Given the description of an element on the screen output the (x, y) to click on. 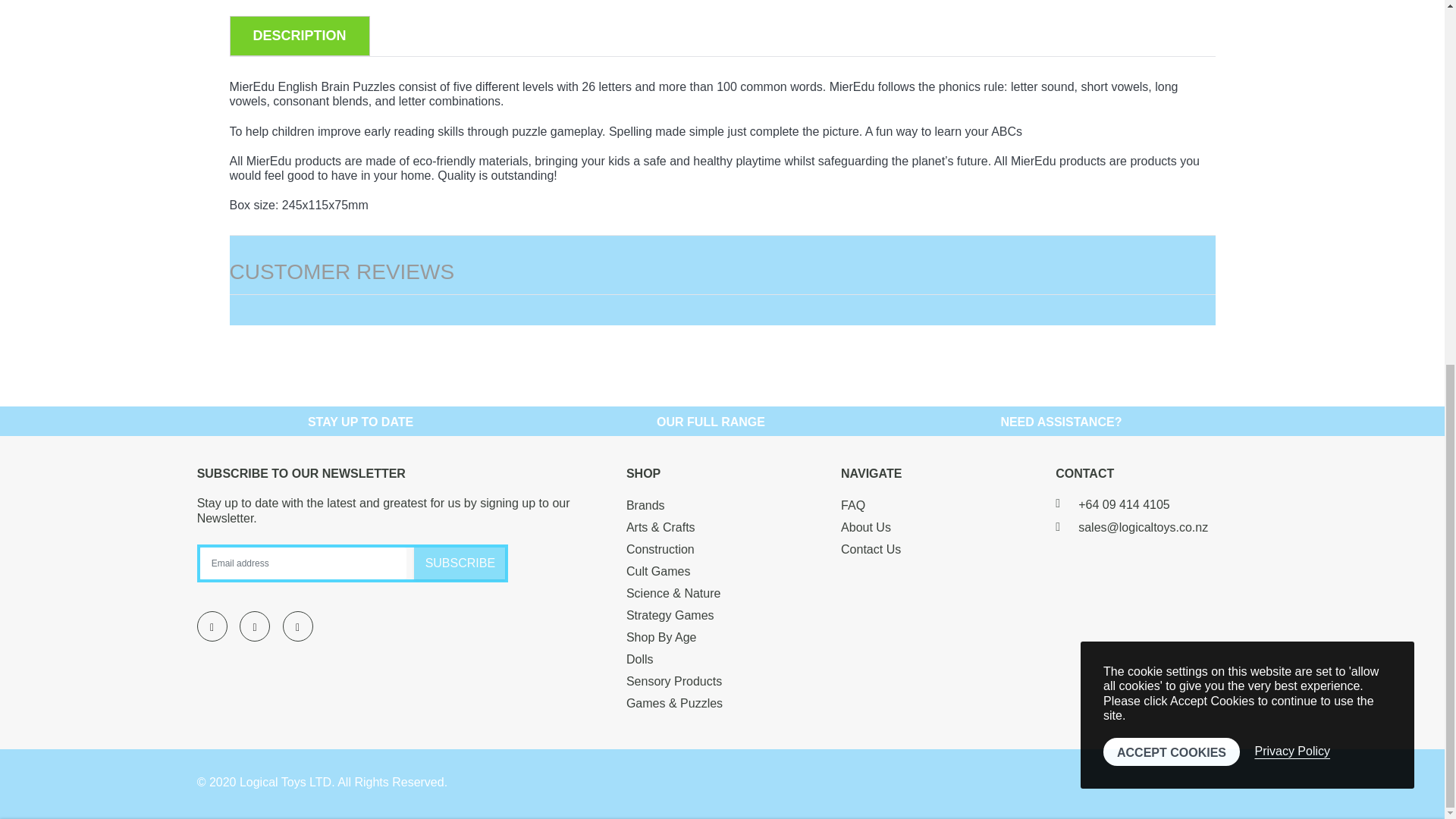
Sold out (1171, 202)
Facebook (211, 625)
Instagram (297, 625)
1 (736, 202)
Subscribe (459, 563)
Twitter (254, 625)
